Given the description of an element on the screen output the (x, y) to click on. 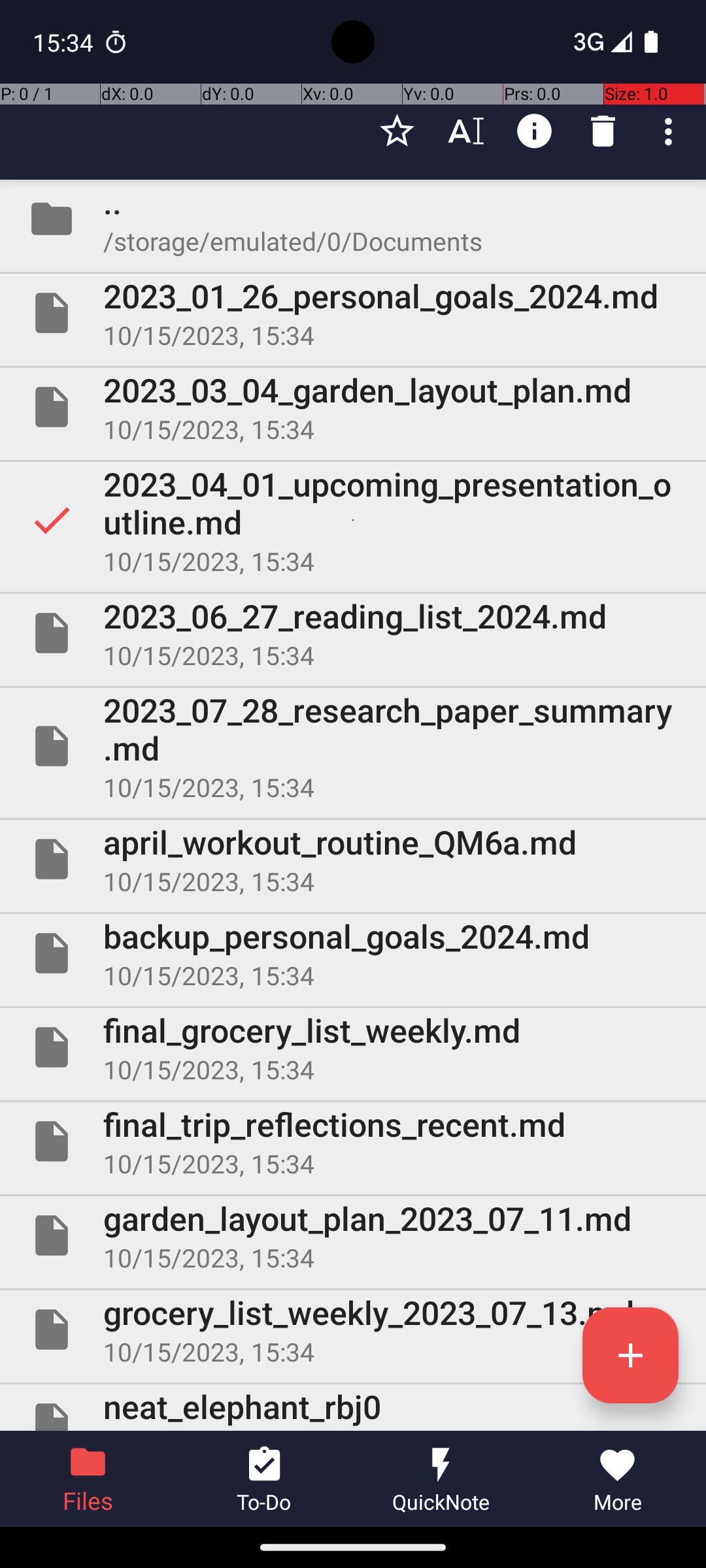
Favourite Element type: android.widget.TextView (396, 131)
File 2023_01_26_personal_goals_2024.md  Element type: android.widget.LinearLayout (353, 312)
File 2023_03_04_garden_layout_plan.md  Element type: android.widget.LinearLayout (353, 406)
Selected 2023_04_01_upcoming_presentation_outline.md  Element type: android.widget.LinearLayout (353, 519)
File 2023_06_27_reading_list_2024.md  Element type: android.widget.LinearLayout (353, 632)
File 2023_07_28_research_paper_summary.md  Element type: android.widget.LinearLayout (353, 745)
File april_workout_routine_QM6a.md  Element type: android.widget.LinearLayout (353, 858)
File backup_personal_goals_2024.md  Element type: android.widget.LinearLayout (353, 953)
File final_grocery_list_weekly.md  Element type: android.widget.LinearLayout (353, 1047)
File final_trip_reflections_recent.md  Element type: android.widget.LinearLayout (353, 1141)
File garden_layout_plan_2023_07_11.md  Element type: android.widget.LinearLayout (353, 1235)
File grocery_list_weekly_2023_07_13.md  Element type: android.widget.LinearLayout (353, 1329)
File neat_elephant_rbj0  Element type: android.widget.LinearLayout (353, 1407)
